Given the description of an element on the screen output the (x, y) to click on. 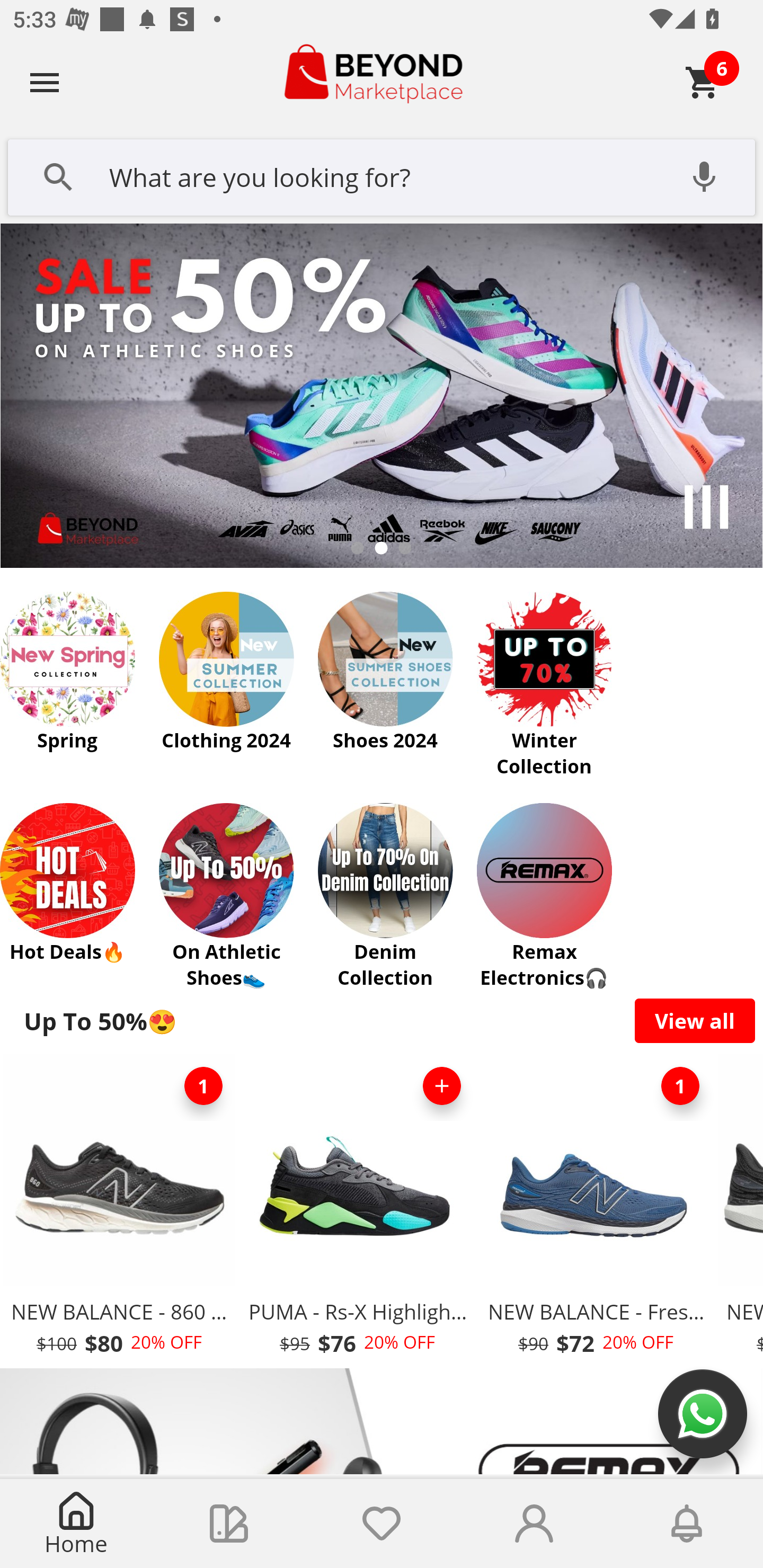
Navigate up (44, 82)
What are you looking for? (381, 175)
View all (694, 1020)
1 NEW BALANCE - 860 Running Shoes $100 $80 20% OFF (119, 1209)
1 (203, 1085)
1 (680, 1085)
Collections (228, 1523)
Wishlist (381, 1523)
Account (533, 1523)
Notifications (686, 1523)
